Given the description of an element on the screen output the (x, y) to click on. 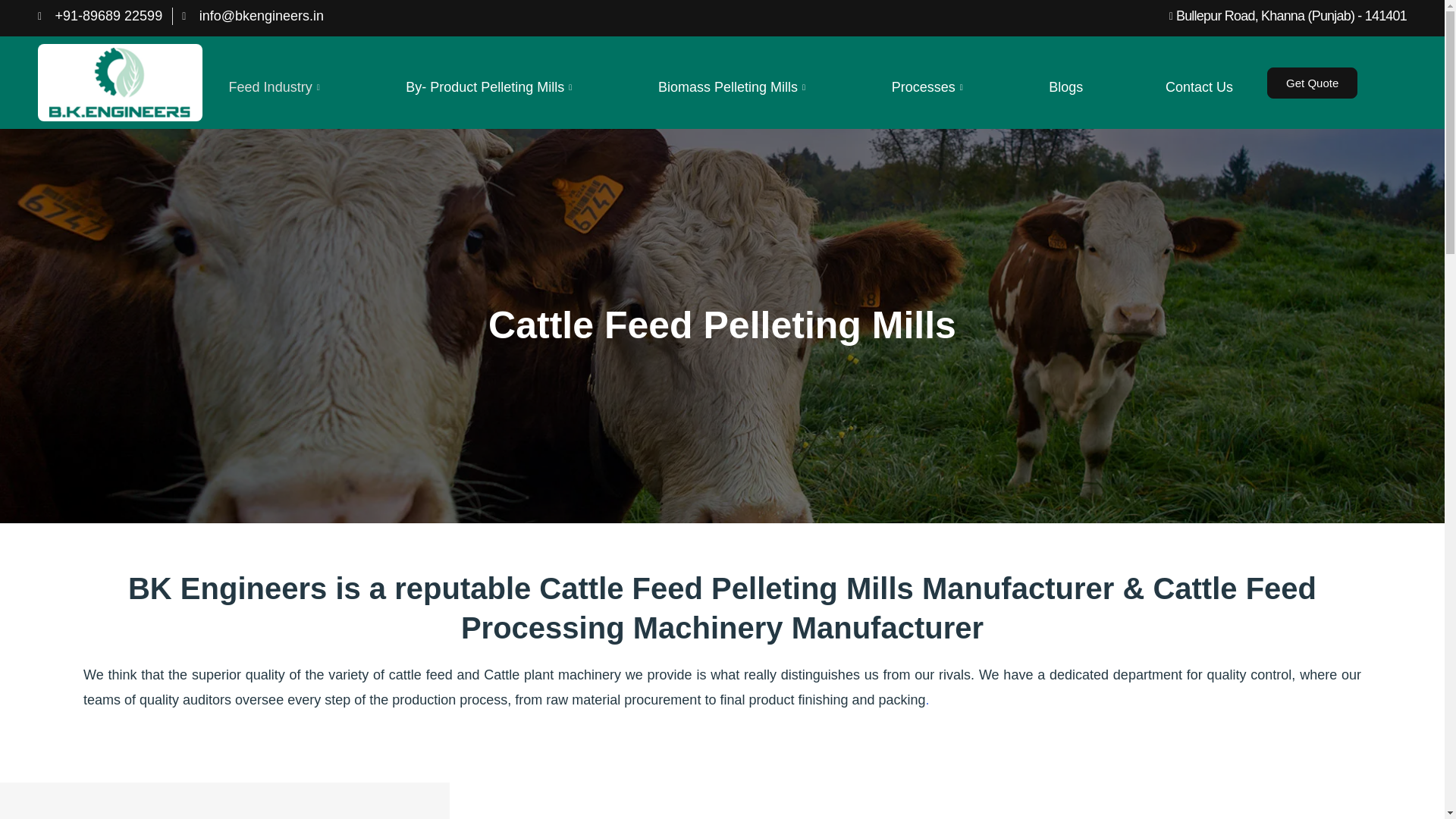
Processes (929, 87)
Blogs (1065, 87)
Biomass Pelleting Mills (732, 87)
Get Quote (1311, 82)
Feed Industry (276, 87)
Contact Us (1198, 87)
By- Product Pelleting Mills (490, 87)
